Given the description of an element on the screen output the (x, y) to click on. 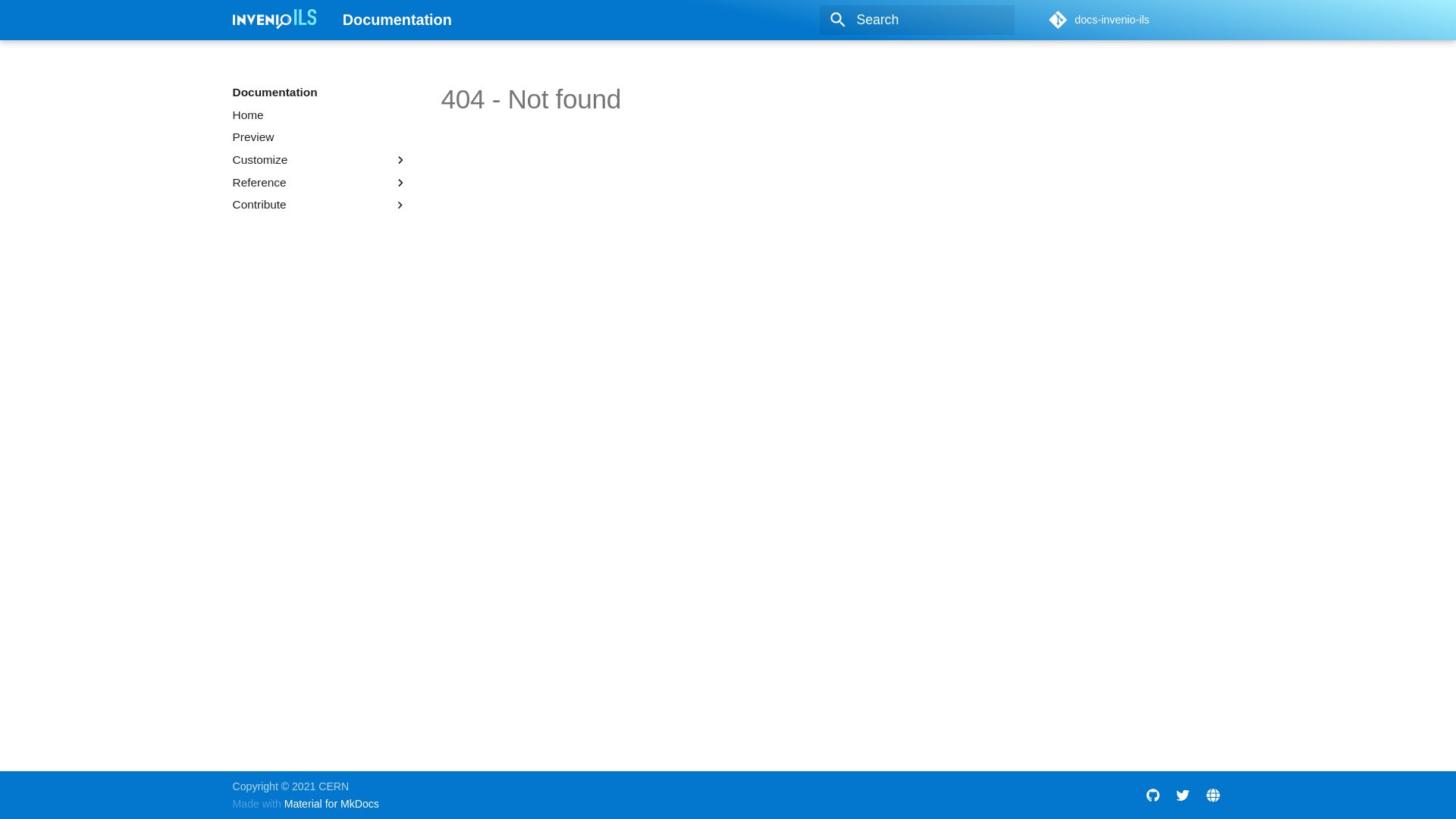
Preview Element type: text (319, 136)
github.com Element type: hover (1152, 794)
twitter.com Element type: hover (1183, 794)
Documentation Element type: hover (274, 20)
Material for MkDocs Element type: text (331, 803)
inveniosoftware.org Element type: hover (1213, 794)
Home Element type: text (319, 114)
docs-invenio-ils Element type: text (1135, 20)
